Given the description of an element on the screen output the (x, y) to click on. 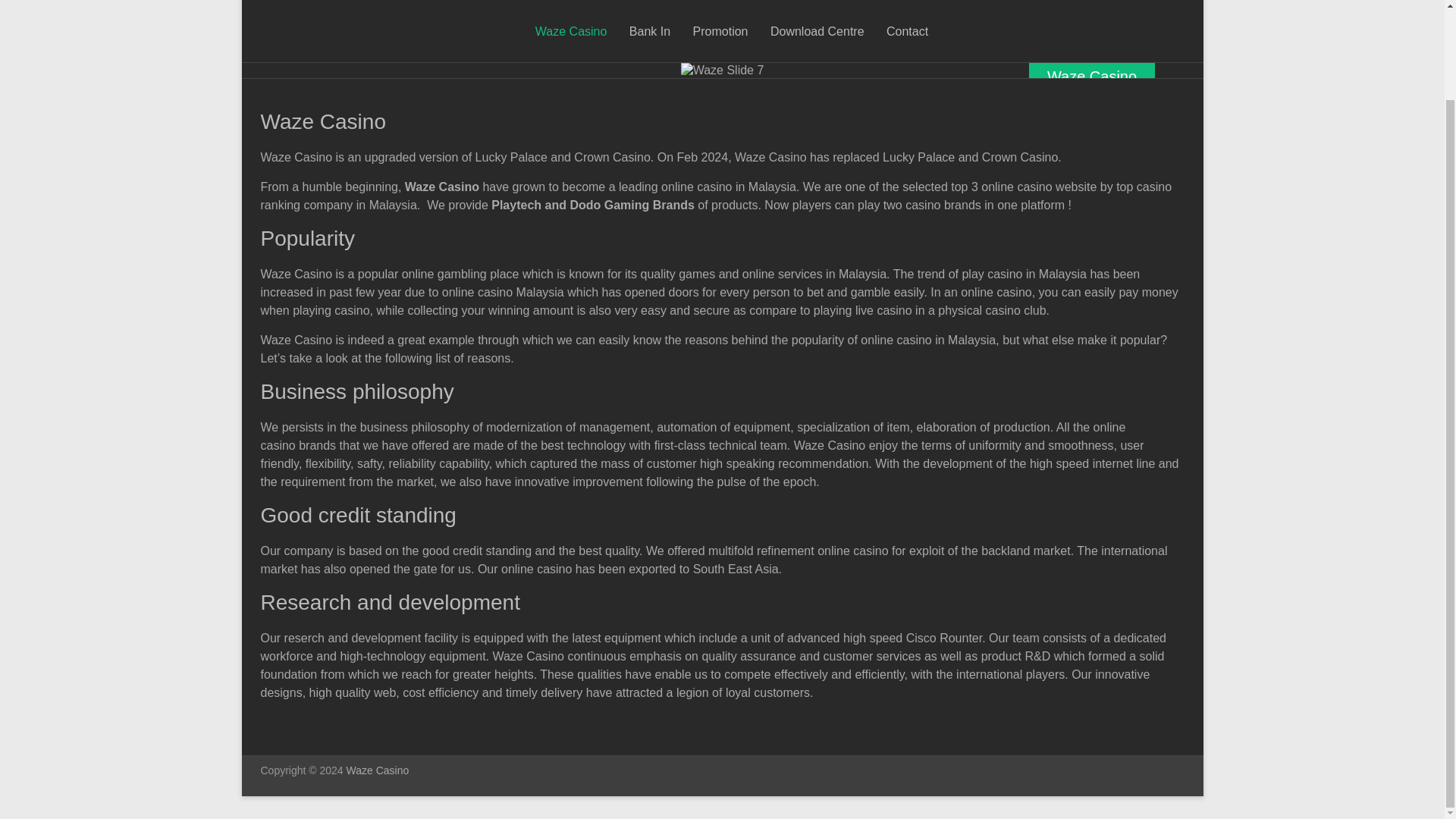
Promotion (720, 31)
Waze Casino (377, 770)
Waze Casino (571, 31)
Contact (907, 31)
Waze Casino (1091, 76)
Download Centre (817, 31)
Waze Casino (377, 770)
Bank In (648, 31)
